Given the description of an element on the screen output the (x, y) to click on. 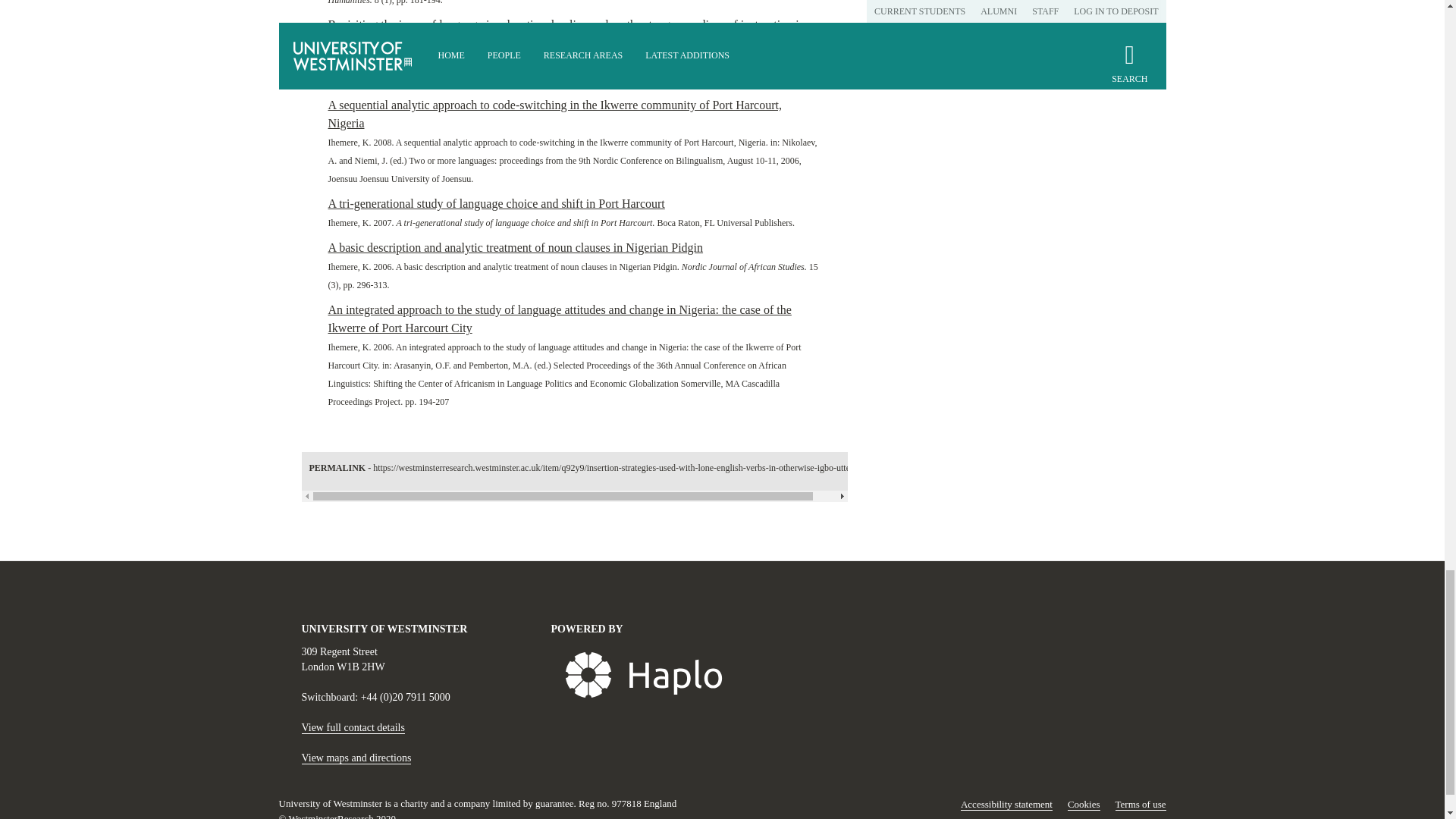
Terms of use (1140, 804)
Accessibility statement (1006, 804)
View full contact details (352, 727)
Cookies (1083, 804)
View maps and directions (356, 758)
